Given the description of an element on the screen output the (x, y) to click on. 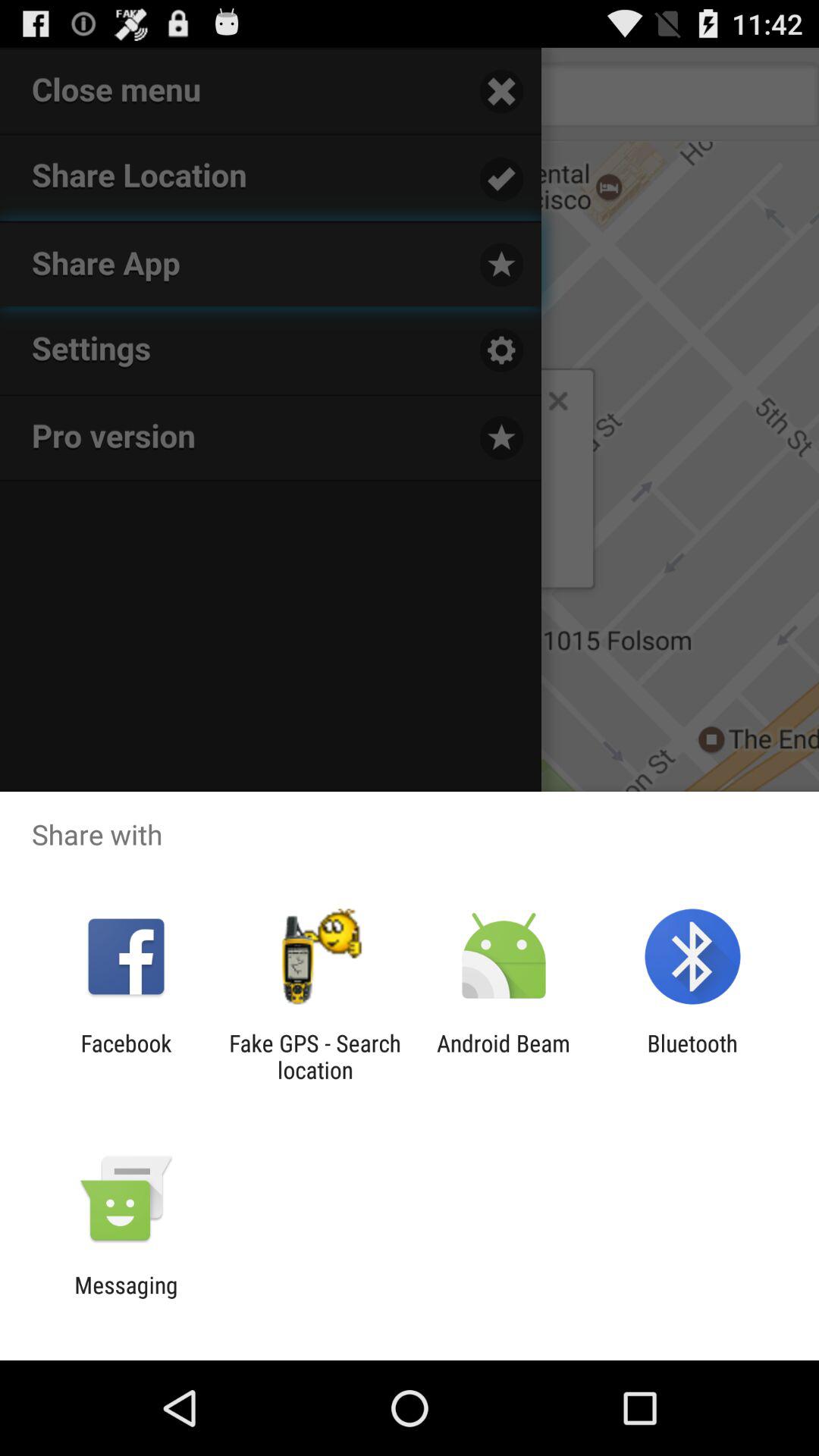
swipe to the android beam icon (503, 1056)
